Given the description of an element on the screen output the (x, y) to click on. 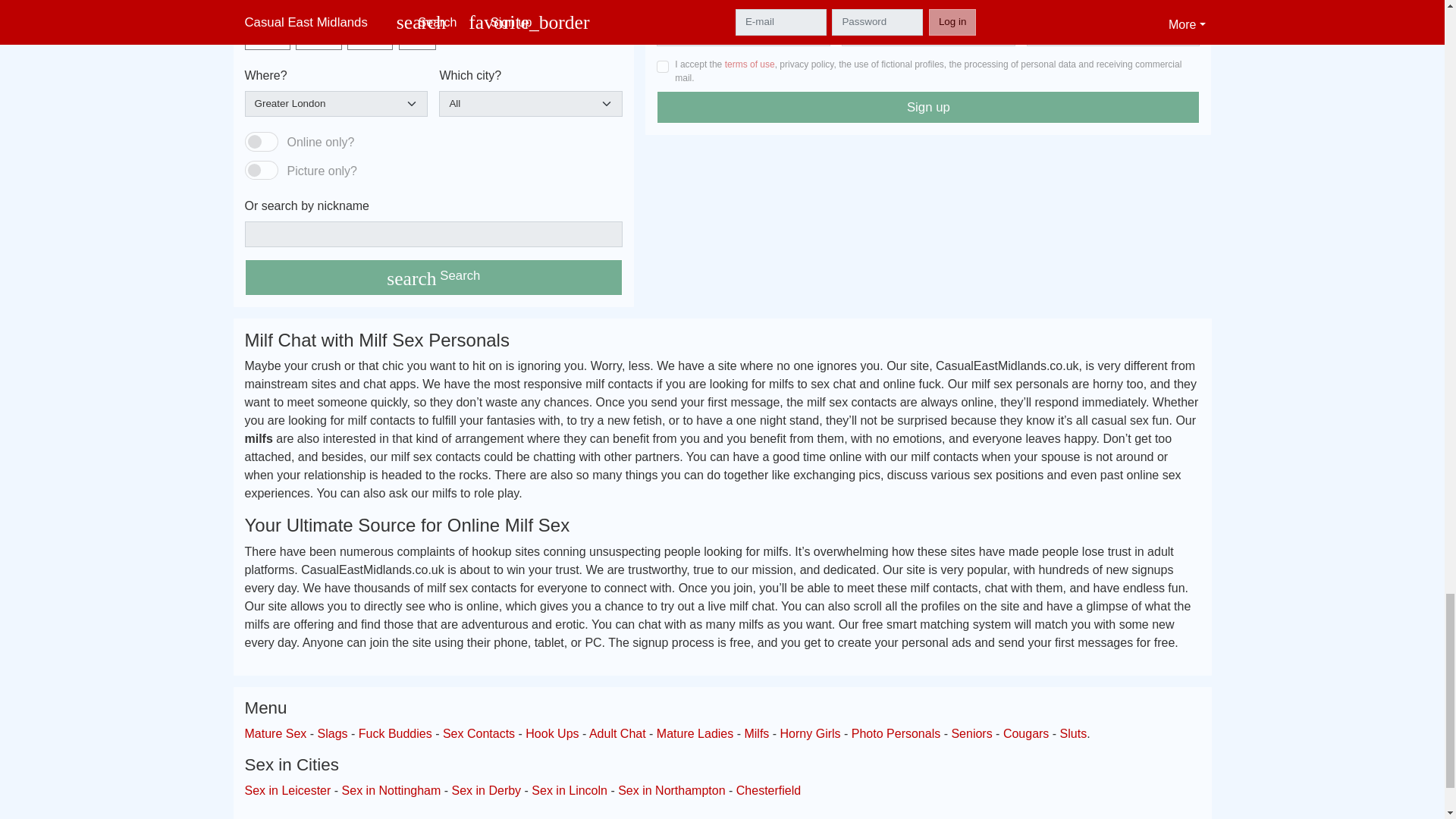
1 (261, 170)
search Search (433, 277)
18-25 (248, 29)
36-54 (351, 29)
26-35 (300, 29)
1 (662, 66)
1 (261, 141)
